Given the description of an element on the screen output the (x, y) to click on. 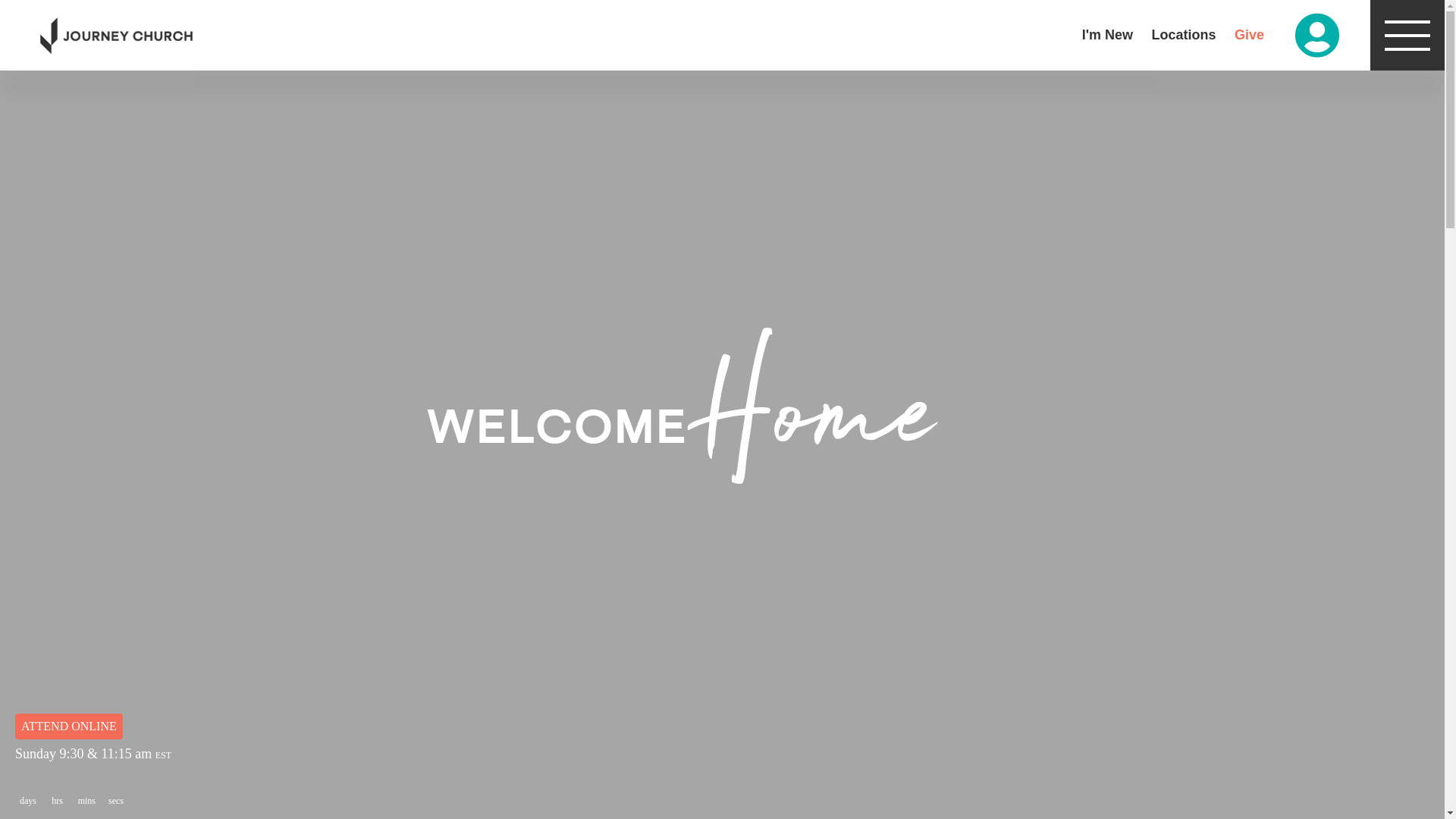
ATTEND ONLINE Element type: text (68, 726)
Give Element type: text (1248, 34)
Locations Element type: text (1183, 34)
I'm New Element type: text (1107, 34)
